Given the description of an element on the screen output the (x, y) to click on. 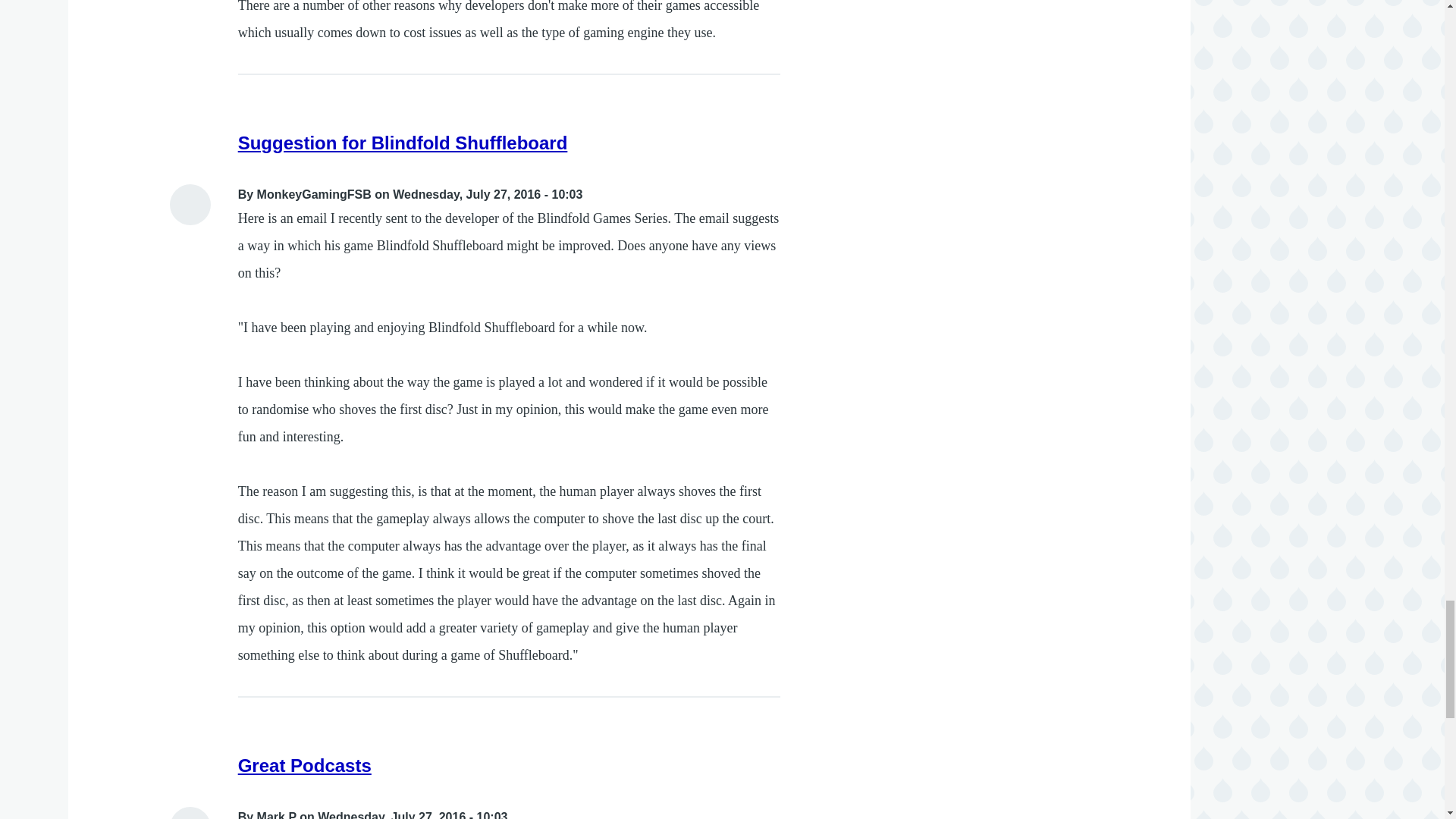
Suggestion for Blindfold Shuffleboard (402, 142)
Great Podcasts (304, 765)
